Given the description of an element on the screen output the (x, y) to click on. 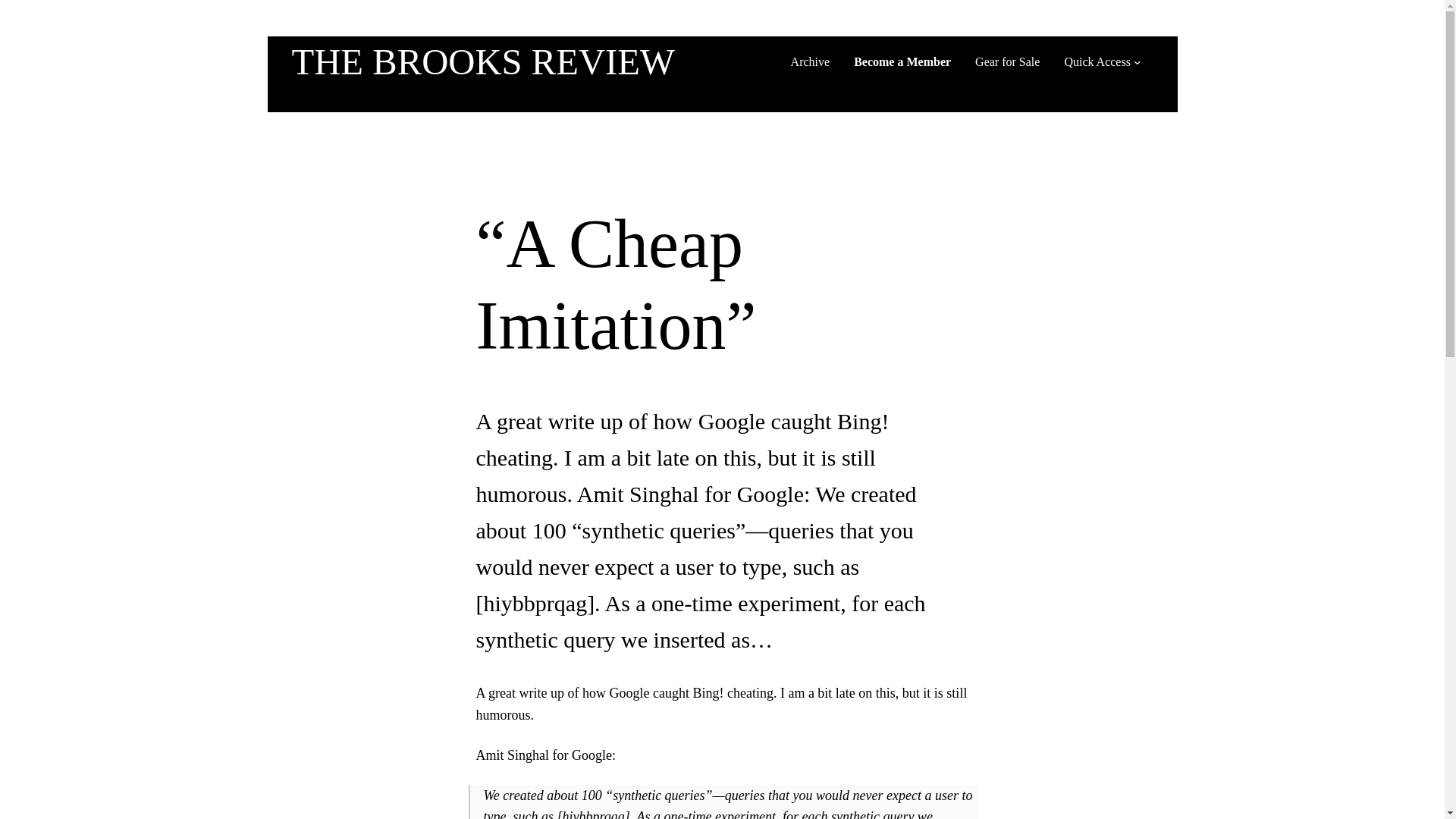
THE BROOKS REVIEW (482, 61)
Archive (809, 62)
Become a Member (901, 62)
Quick Access (1097, 62)
Gear for Sale (1007, 62)
